Given the description of an element on the screen output the (x, y) to click on. 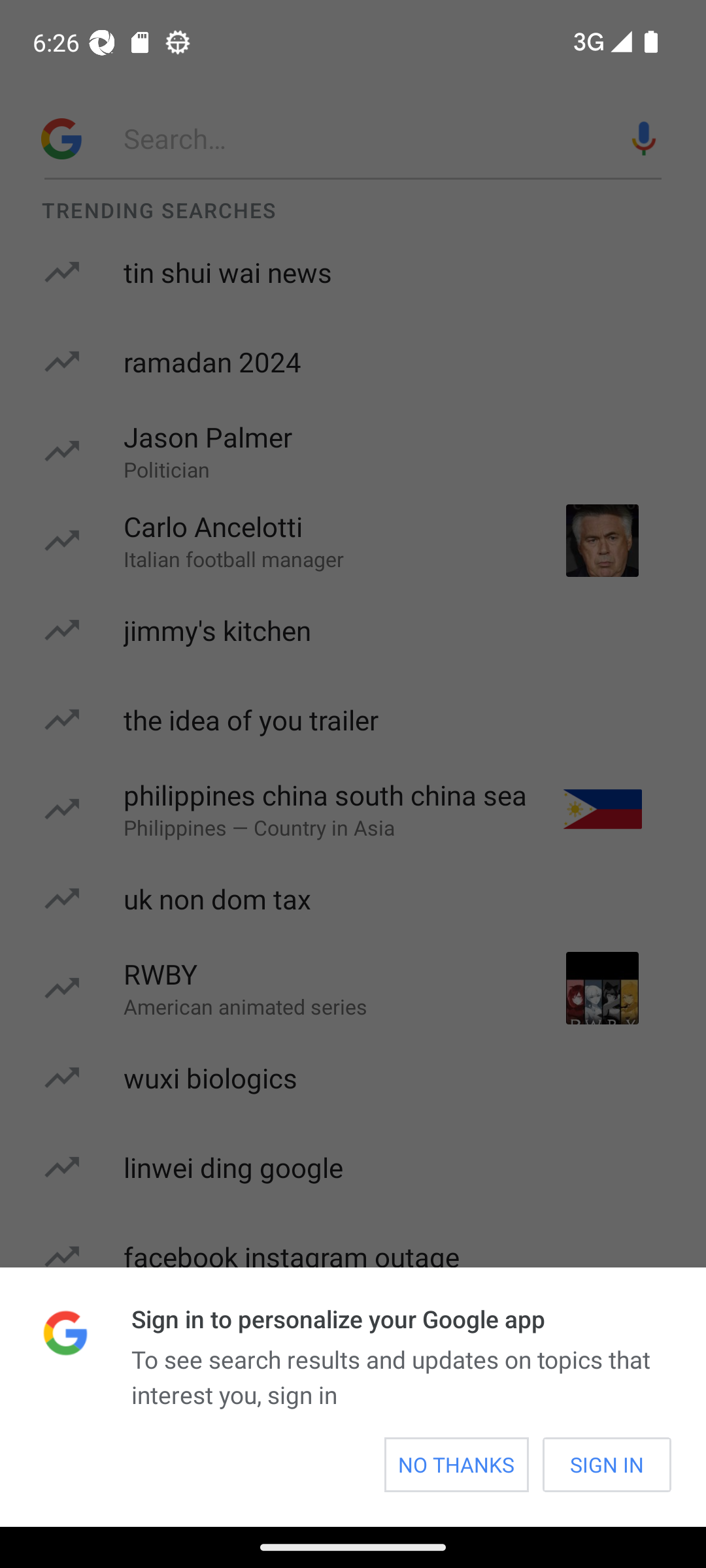
NO THANKS (456, 1464)
SIGN IN (606, 1464)
